Given the description of an element on the screen output the (x, y) to click on. 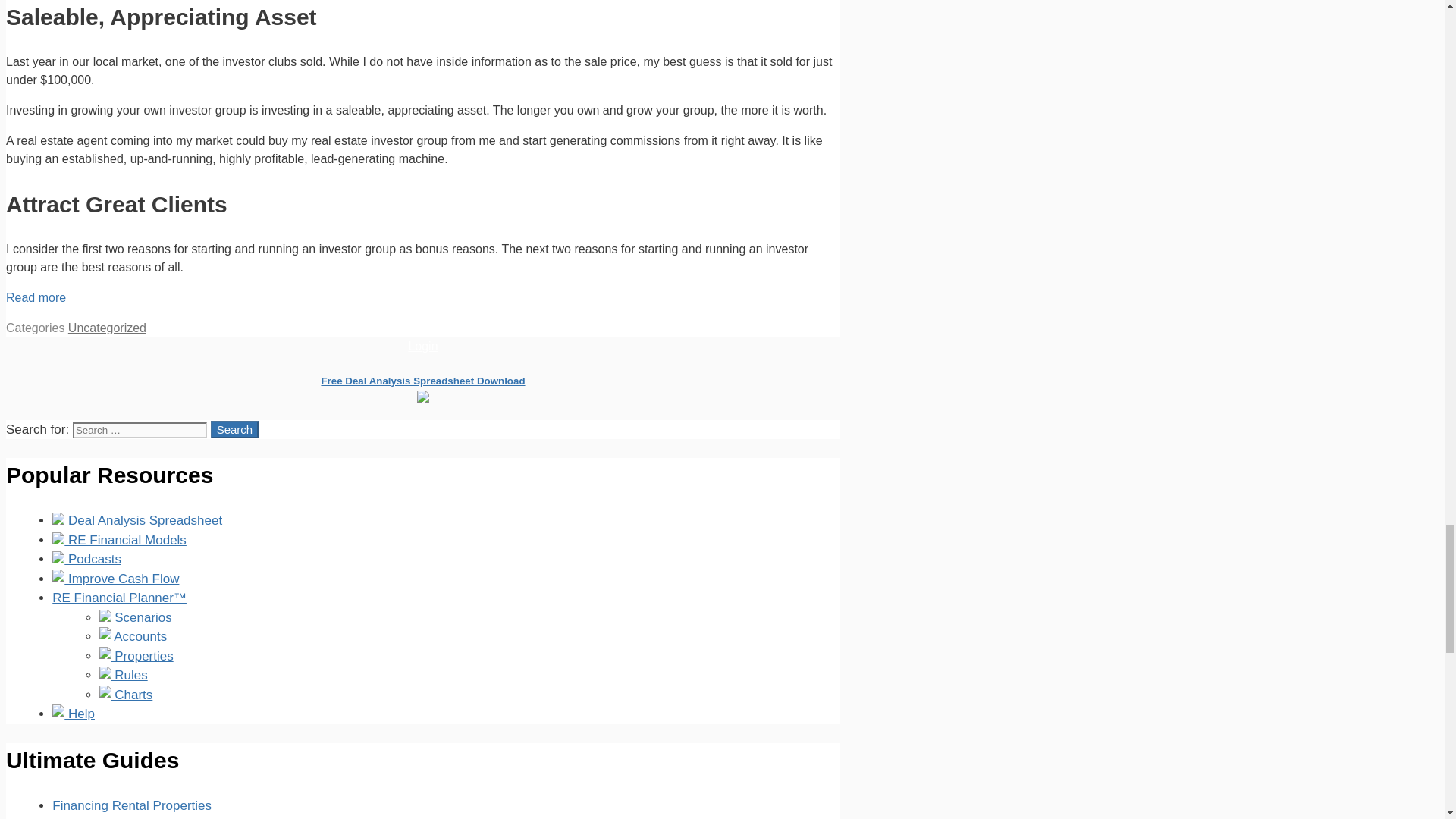
Why Start and Run a Real Estate Investor Group (35, 297)
Search (235, 429)
Search for: (139, 430)
Search (235, 429)
